Given the description of an element on the screen output the (x, y) to click on. 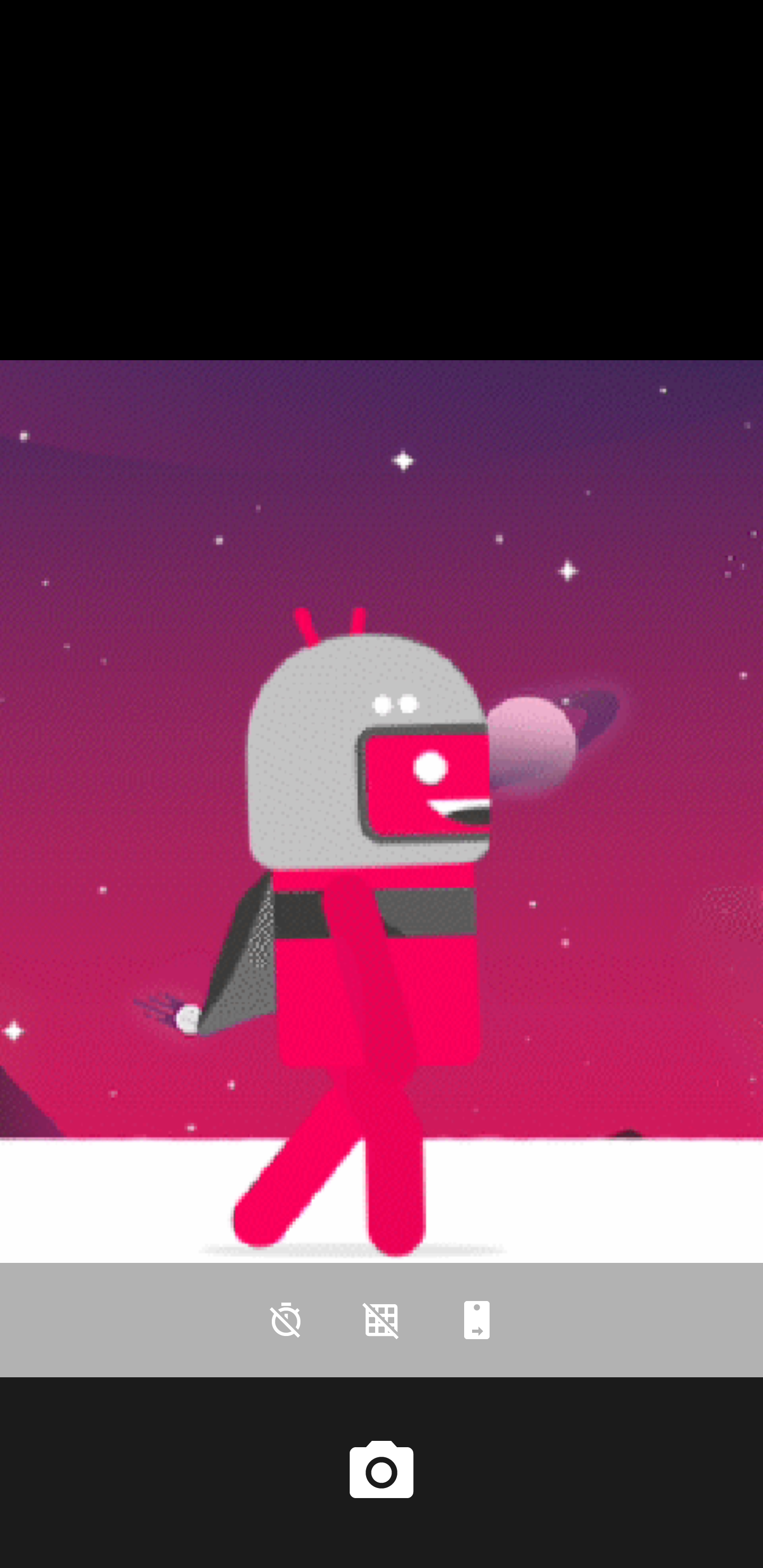
Countdown timer is off (285, 1319)
Grid lines off (381, 1319)
Back camera (476, 1319)
Shutter (381, 1472)
